Given the description of an element on the screen output the (x, y) to click on. 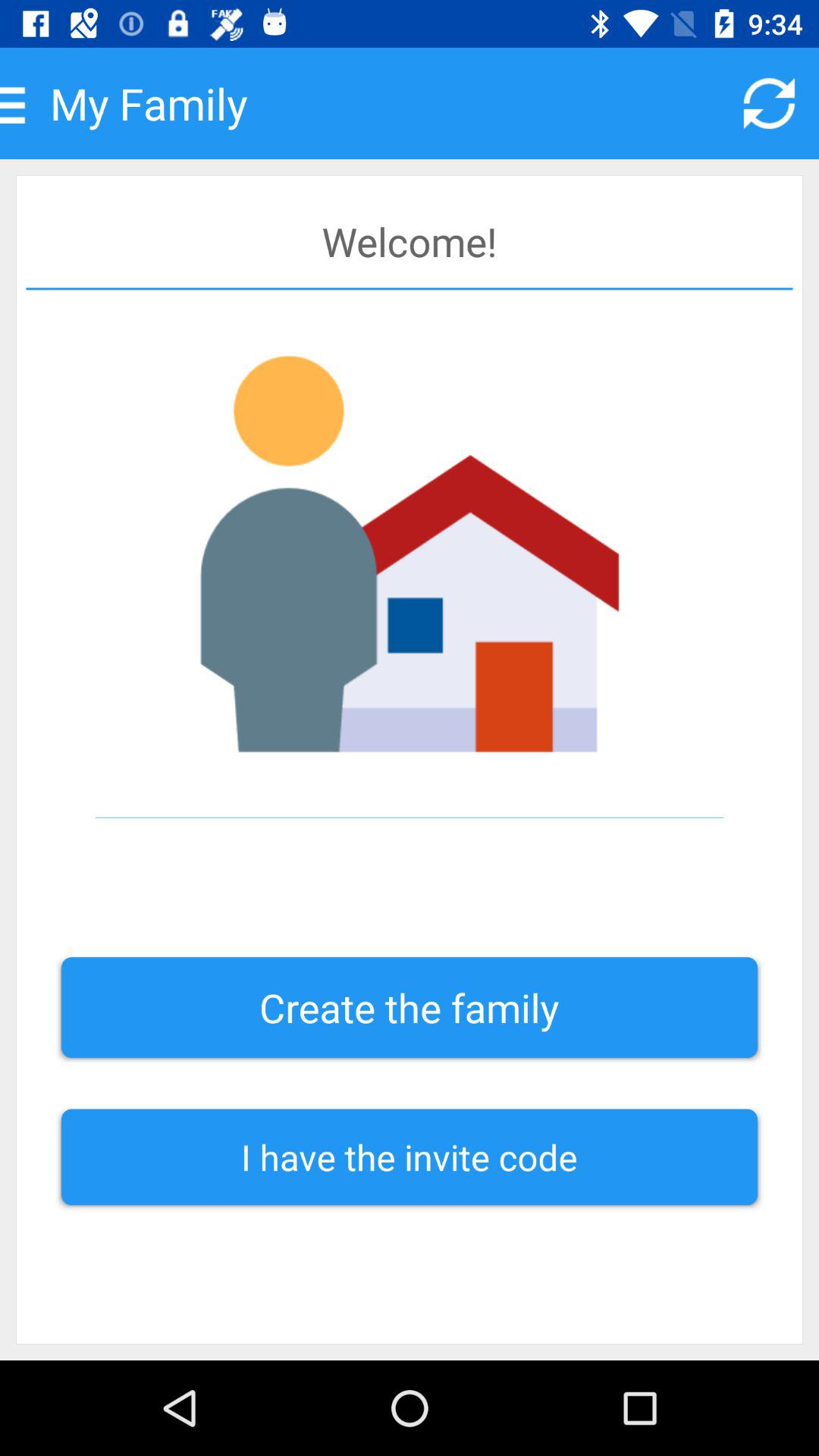
refresh button (769, 103)
